Given the description of an element on the screen output the (x, y) to click on. 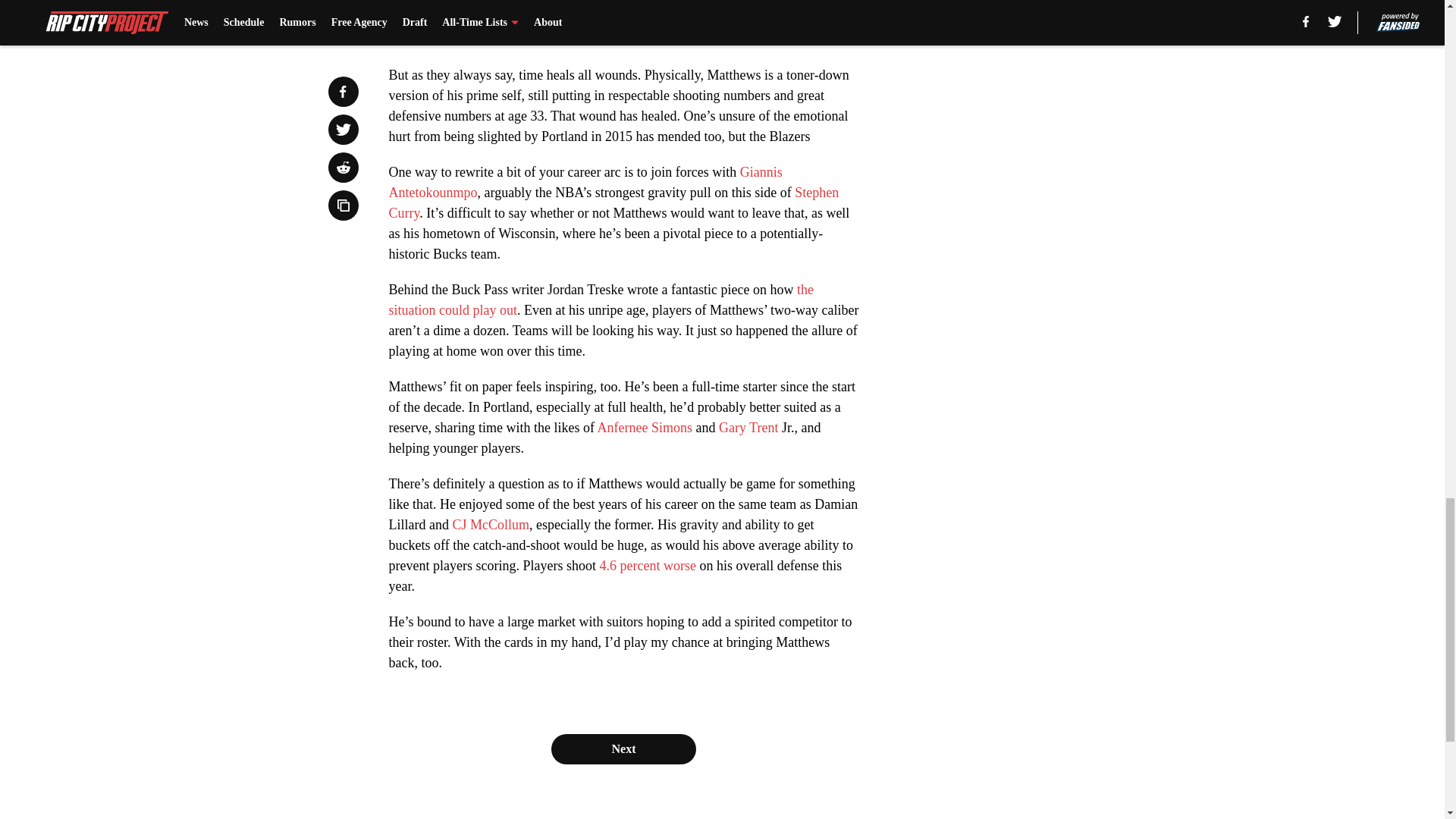
Anfernee Simons (643, 427)
Stephen Curry (613, 202)
Gary Trent (748, 427)
Next (622, 748)
Giannis Antetokounmpo (584, 181)
CJ McCollum (490, 524)
the situation could play out (600, 299)
4.6 percent worse (646, 565)
